Given the description of an element on the screen output the (x, y) to click on. 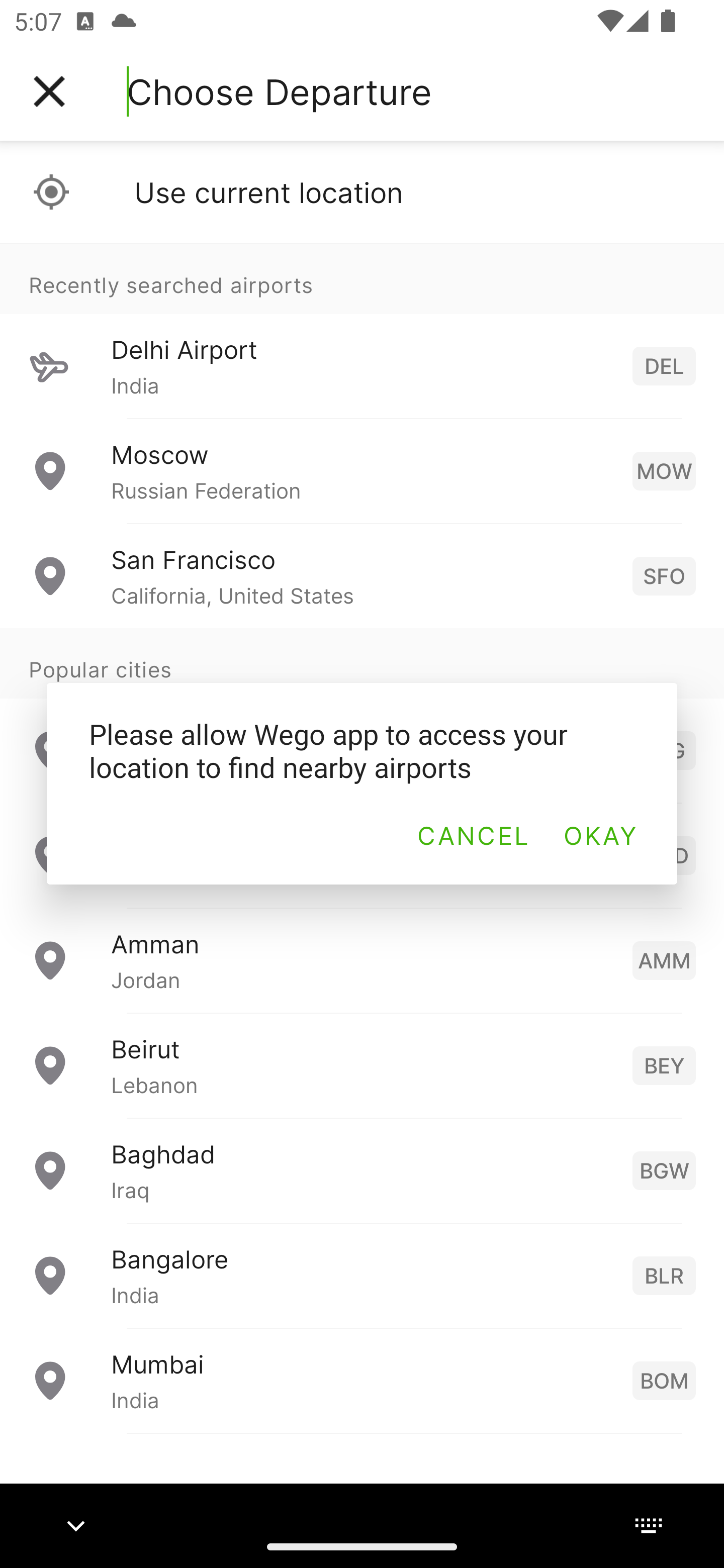
CANCEL (472, 835)
OKAY (599, 835)
